Given the description of an element on the screen output the (x, y) to click on. 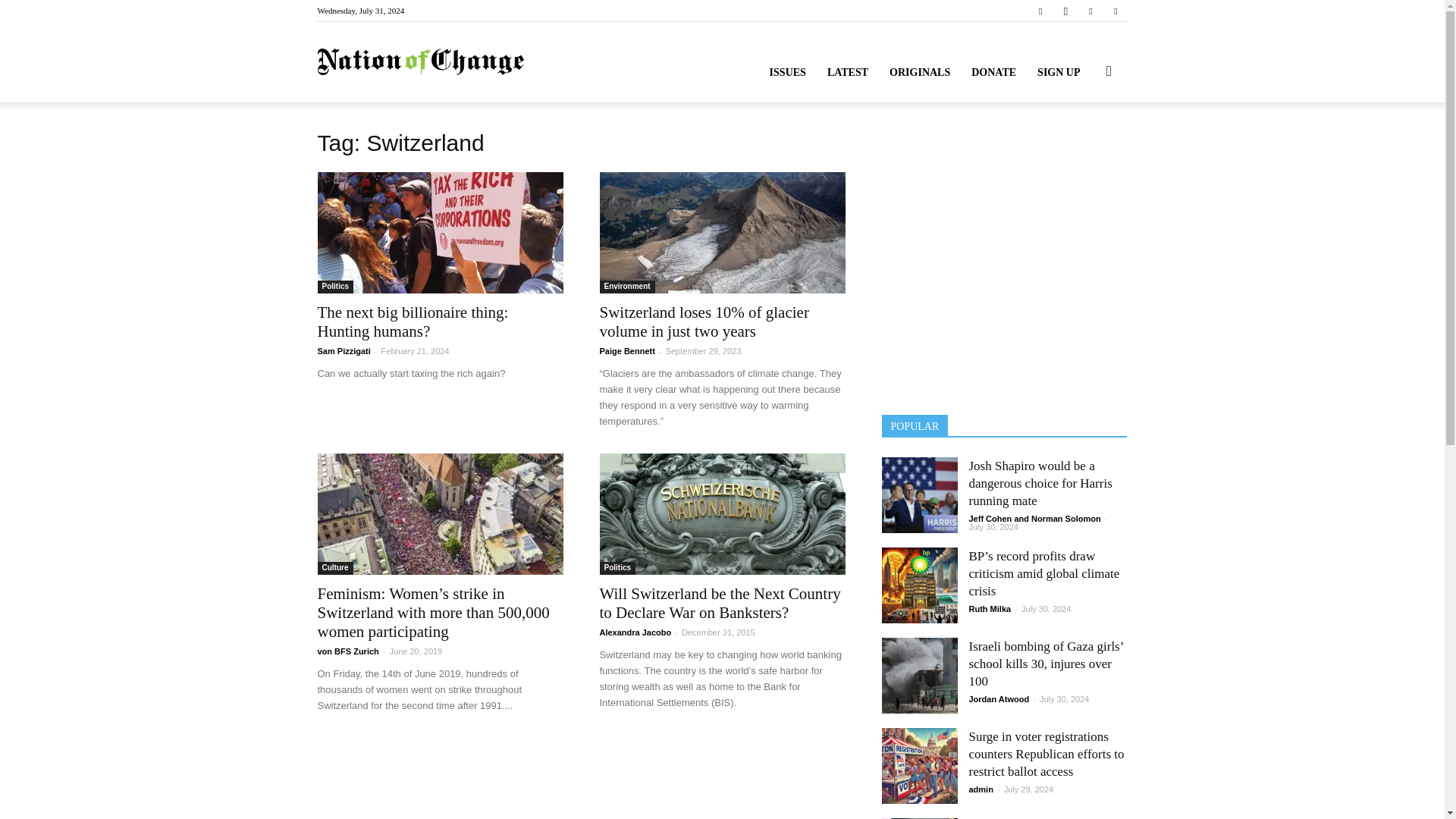
The next big billionaire thing: Hunting humans? (412, 321)
Twitter (1090, 10)
ISSUES (787, 72)
Instagram (1065, 10)
Youtube (1114, 10)
NationofChange (419, 61)
The next big billionaire thing: Hunting humans? (439, 232)
Facebook (1040, 10)
